Given the description of an element on the screen output the (x, y) to click on. 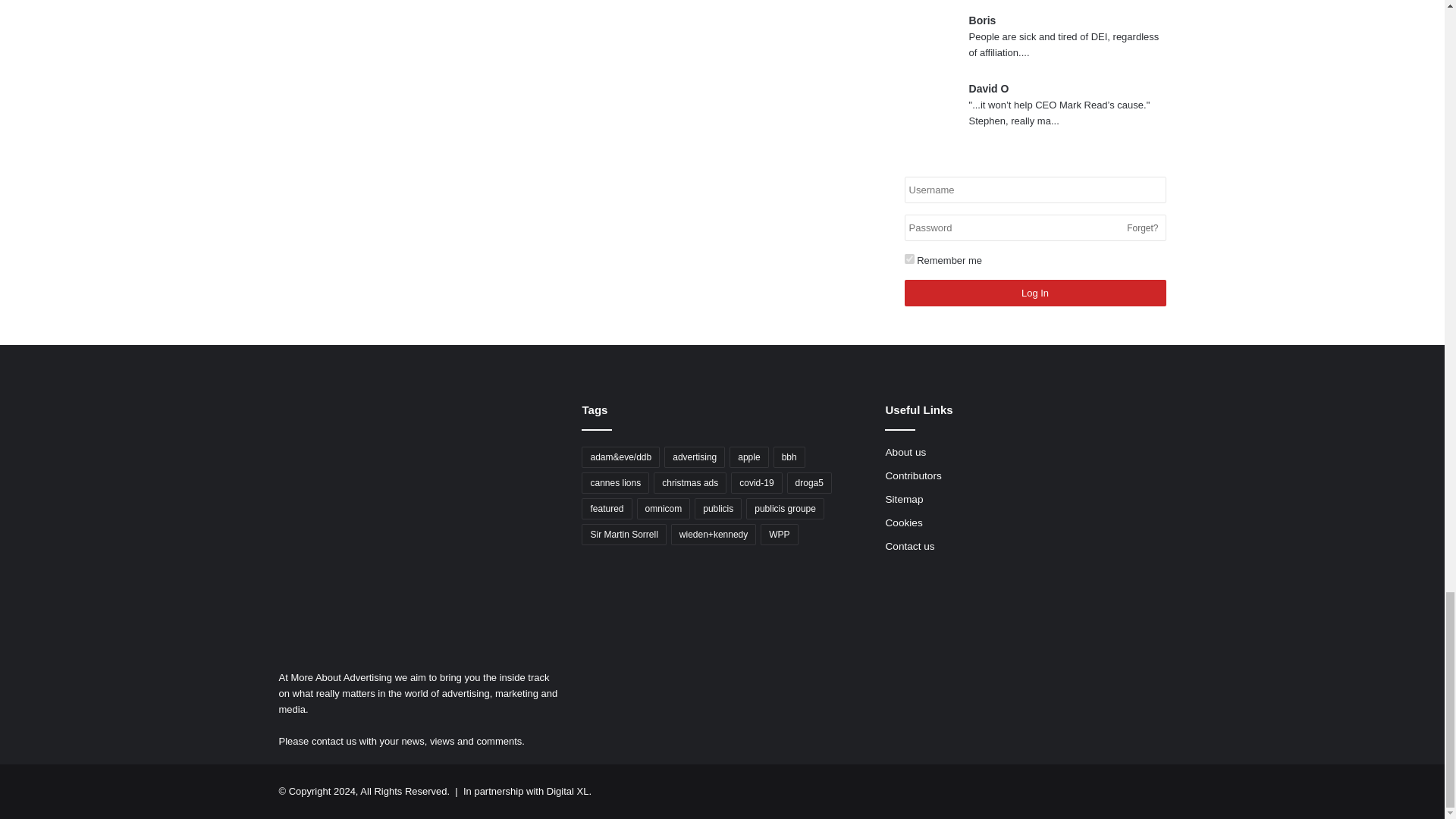
forever (909, 258)
Username (1035, 189)
Password (1035, 227)
